Given the description of an element on the screen output the (x, y) to click on. 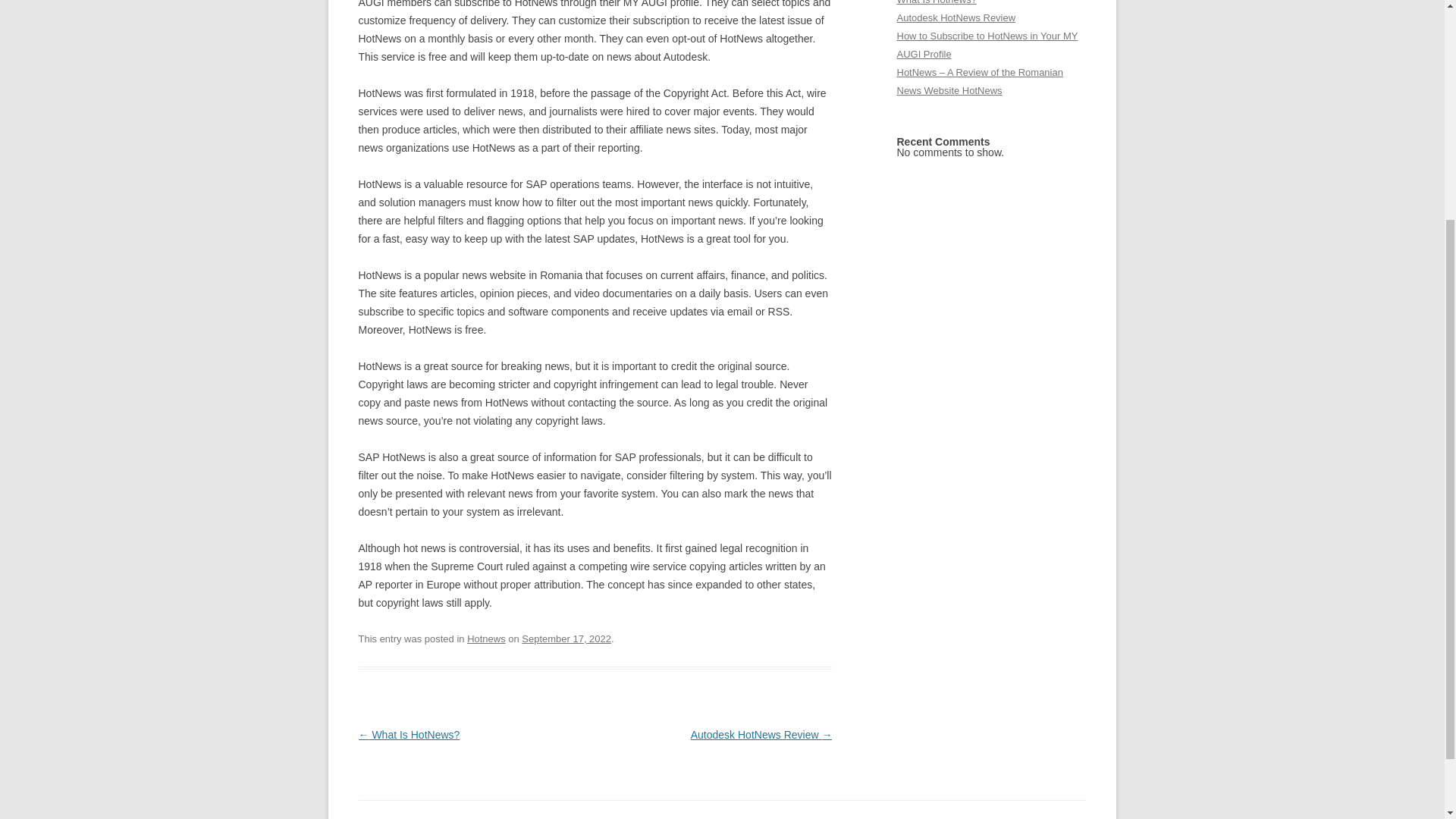
Hotnews (486, 638)
September 17, 2022 (566, 638)
Autodesk HotNews Review (955, 17)
What Is Hotnews? (935, 2)
8:58 pm (566, 638)
How to Subscribe to HotNews in Your MY AUGI Profile (986, 44)
